Given the description of an element on the screen output the (x, y) to click on. 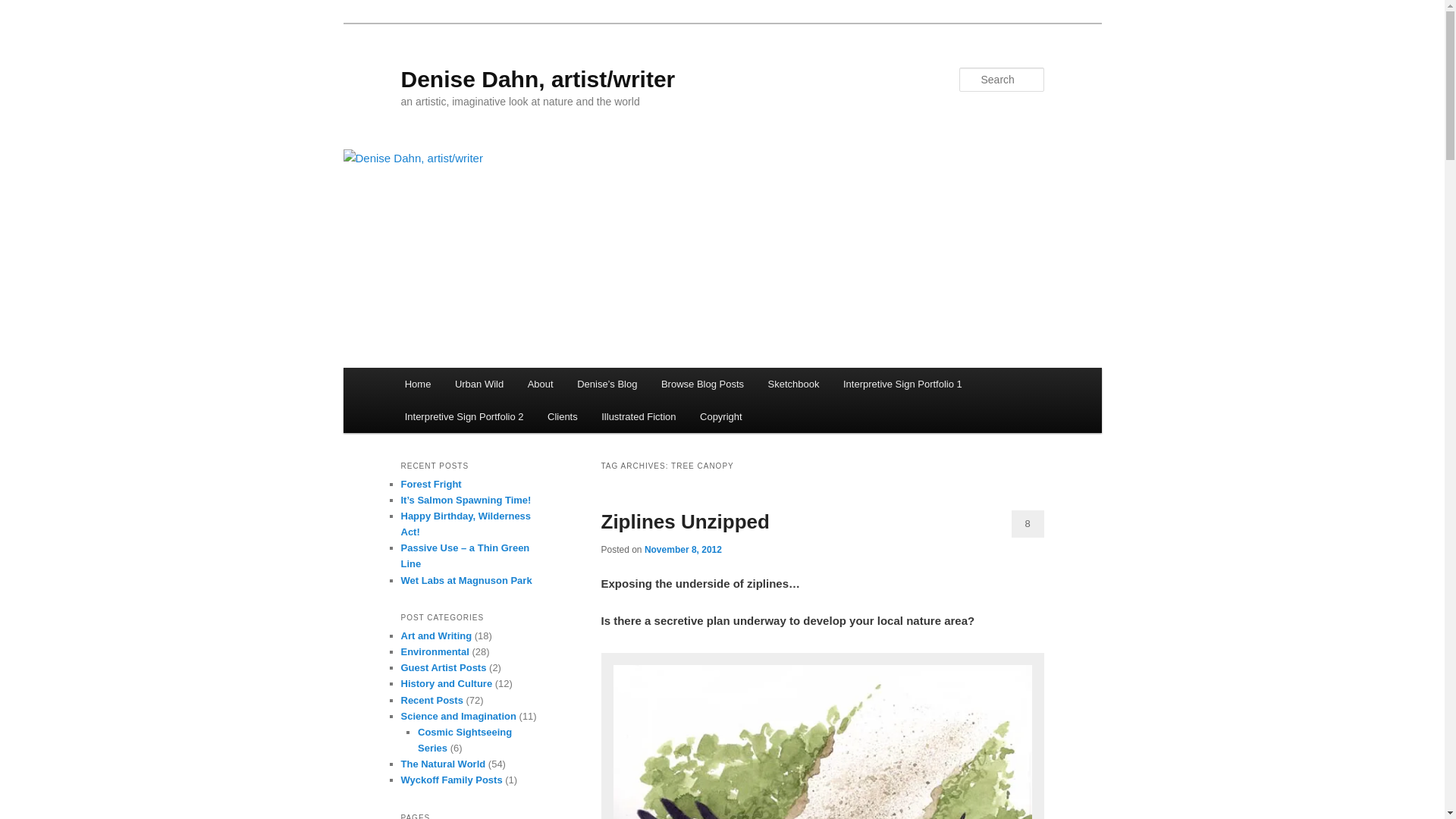
Home (417, 383)
About (539, 383)
Interpretive Sign Portfolio 2 (464, 416)
Sketchbook (793, 383)
1:05 pm (683, 549)
Search (24, 8)
Interpretive Sign Portfolio 1 (902, 383)
Browse Blog Posts (702, 383)
Urban Wild (478, 383)
